Given the description of an element on the screen output the (x, y) to click on. 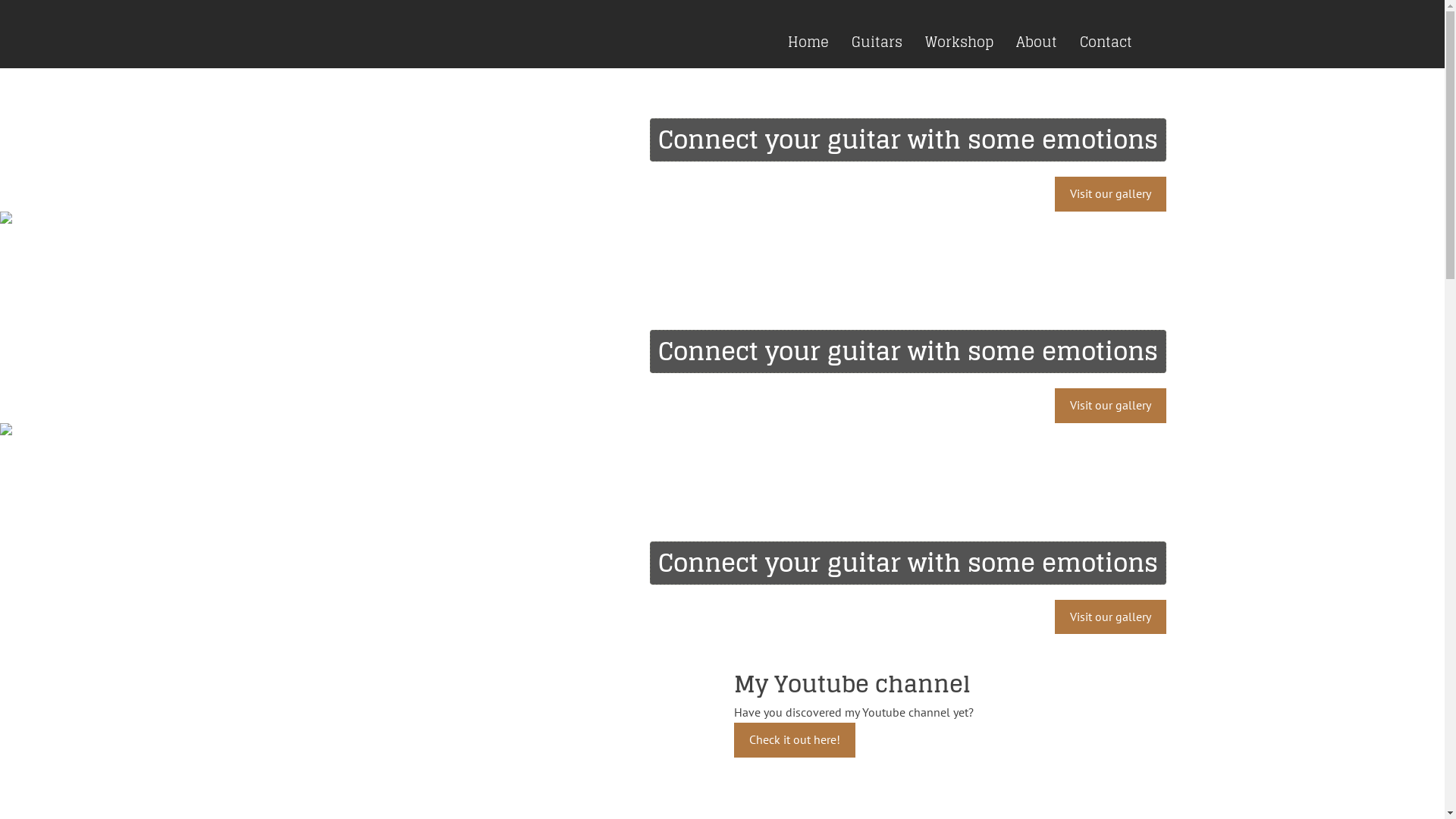
Visit our gallery Element type: text (1109, 616)
Visit our gallery Element type: text (1109, 405)
Check it out here! Element type: text (794, 739)
Workshop Element type: text (958, 41)
About Element type: text (1035, 41)
Home Element type: text (808, 41)
Visit our gallery Element type: text (1109, 193)
Contact Element type: text (1104, 41)
Guitars Element type: text (876, 41)
